Given the description of an element on the screen output the (x, y) to click on. 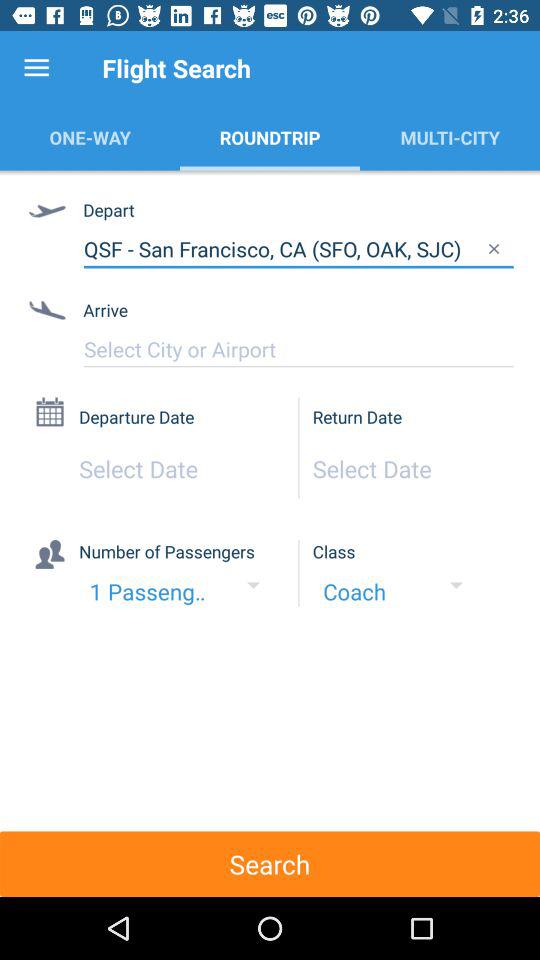
scroll to the qsf san francisco (298, 249)
